Given the description of an element on the screen output the (x, y) to click on. 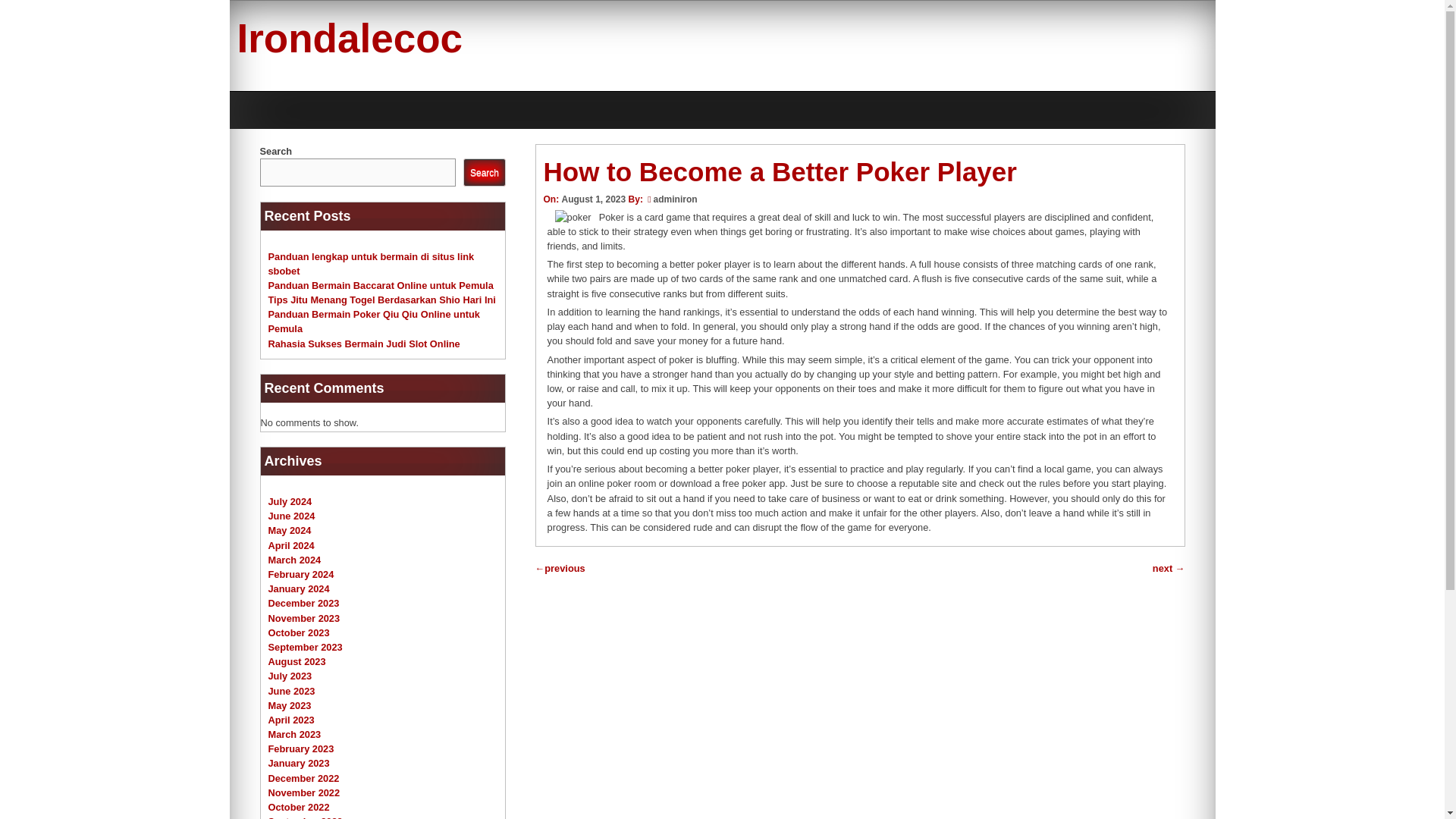
July 2023 (290, 675)
November 2022 (303, 792)
October 2023 (298, 632)
Irondalecoc (348, 37)
January 2024 (298, 588)
November 2023 (303, 618)
June 2023 (291, 690)
March 2024 (294, 559)
February 2024 (300, 573)
Panduan Bermain Poker Qiu Qiu Online untuk Pemula (373, 321)
Panduan Bermain Baccarat Online untuk Pemula (380, 285)
October 2022 (298, 807)
Tips Jitu Menang Togel Berdasarkan Shio Hari Ini (381, 299)
August 2023 (296, 661)
March 2023 (294, 734)
